Given the description of an element on the screen output the (x, y) to click on. 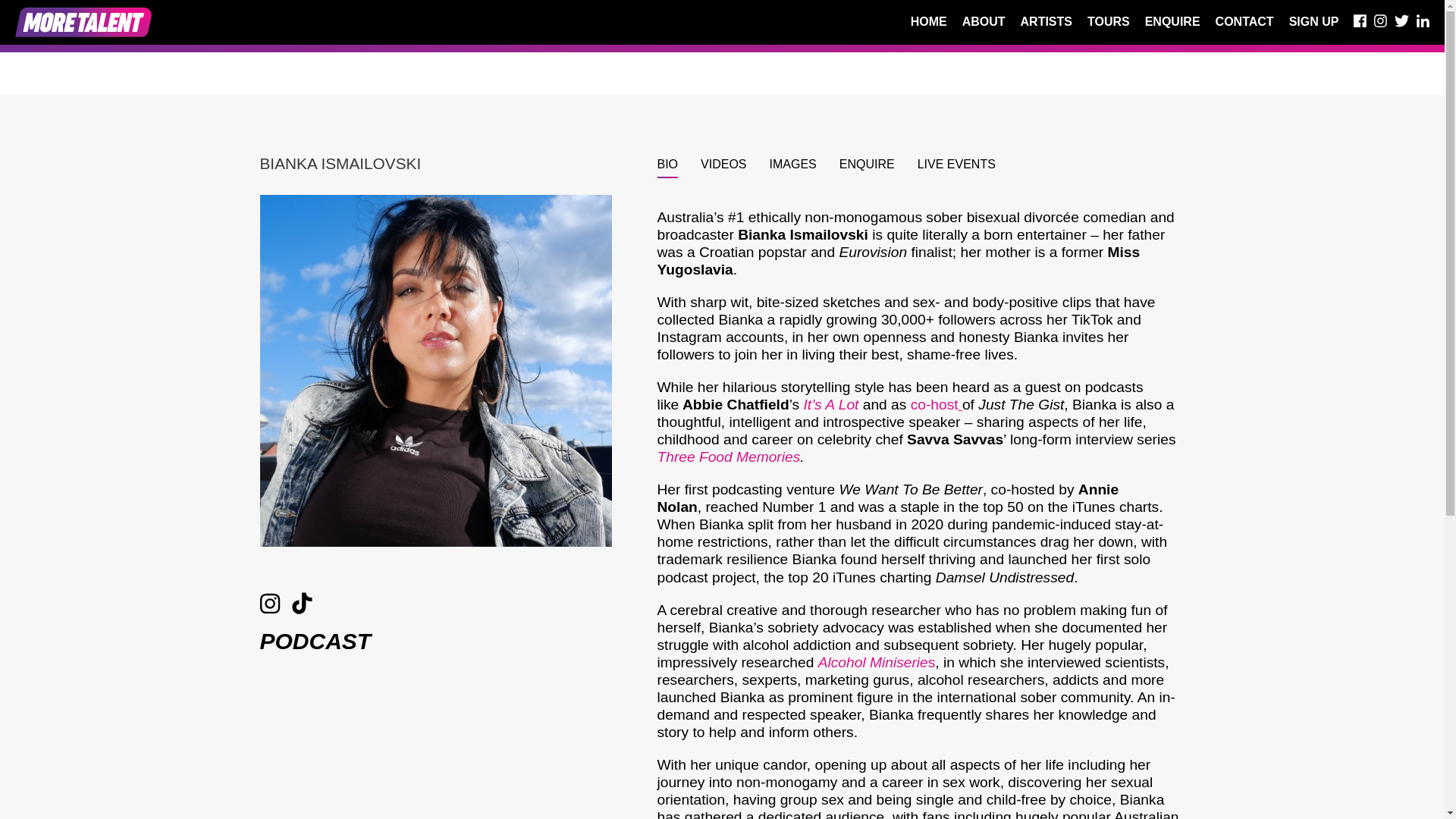
co-host (936, 404)
PODCAST (315, 640)
ENQUIRE (1171, 25)
Alcohol Miniseries (877, 662)
ABOUT (984, 25)
SIGN UP (1313, 25)
ARTISTS (1045, 25)
TOURS (1108, 25)
CONTACT (1244, 25)
HOME (929, 25)
